Given the description of an element on the screen output the (x, y) to click on. 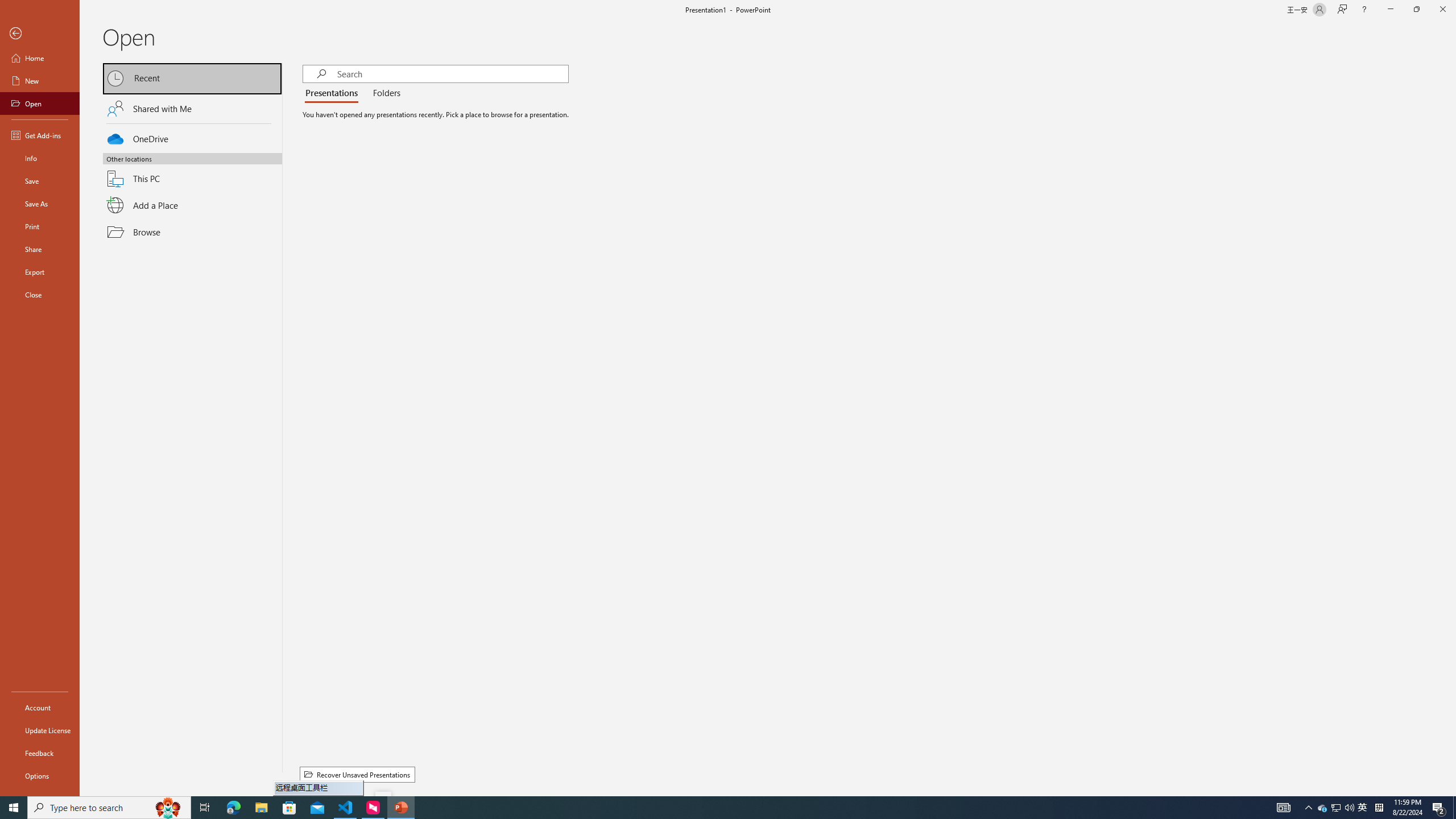
Options (40, 775)
OneDrive (192, 136)
Back (40, 33)
Shared with Me (192, 108)
Export (40, 271)
Account (40, 707)
Feedback (40, 753)
Save As (40, 203)
Folders (384, 93)
Recent (192, 78)
